Given the description of an element on the screen output the (x, y) to click on. 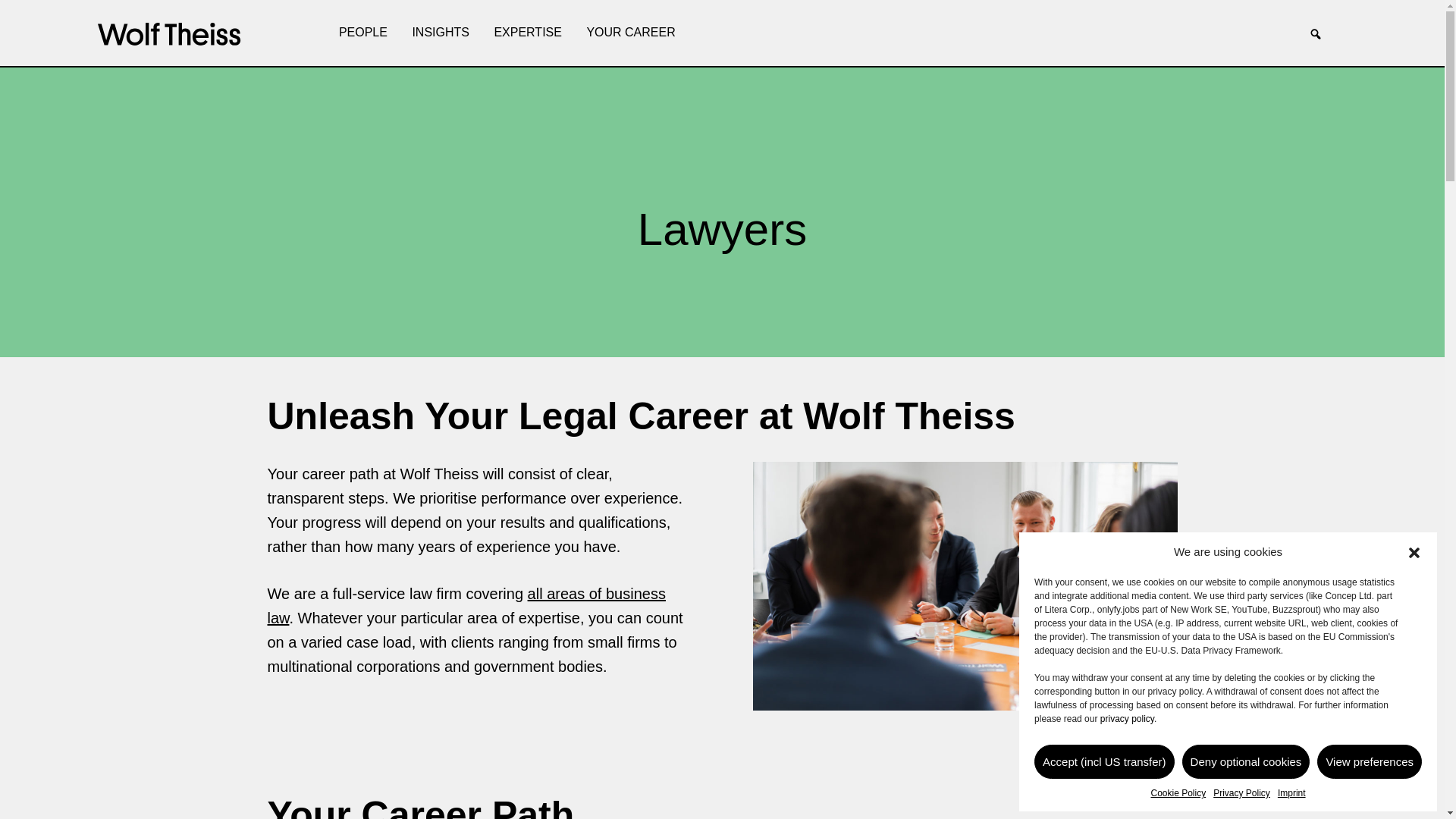
INSIGHTS (440, 32)
Deny optional cookies (1246, 761)
View preferences (1369, 761)
PEOPLE (363, 32)
EXPERTISE (527, 32)
Cookie Policy (1177, 793)
Privacy Policy (1240, 793)
privacy policy (1127, 718)
Imprint (1292, 793)
